Given the description of an element on the screen output the (x, y) to click on. 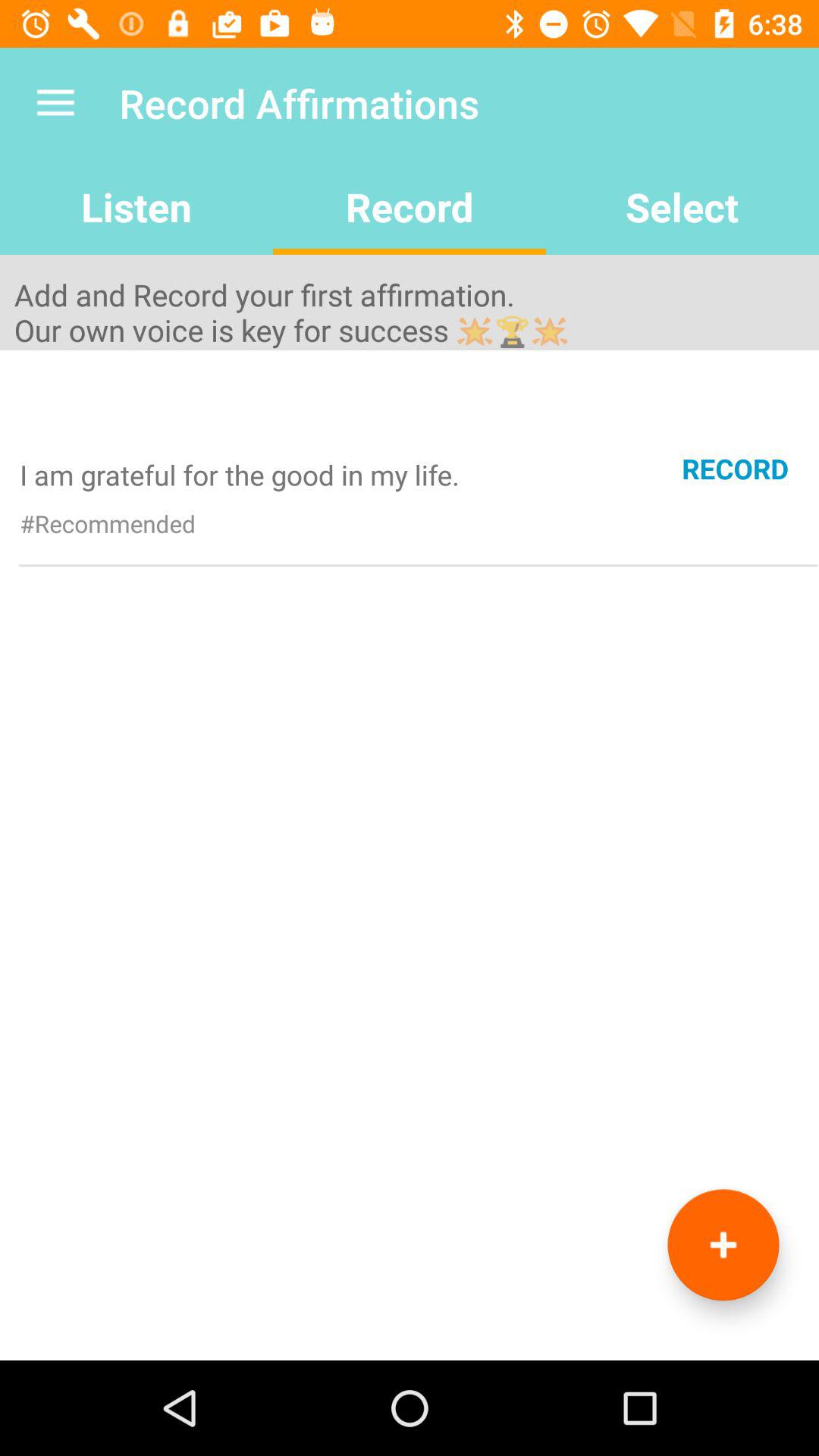
options menu (723, 1244)
